Given the description of an element on the screen output the (x, y) to click on. 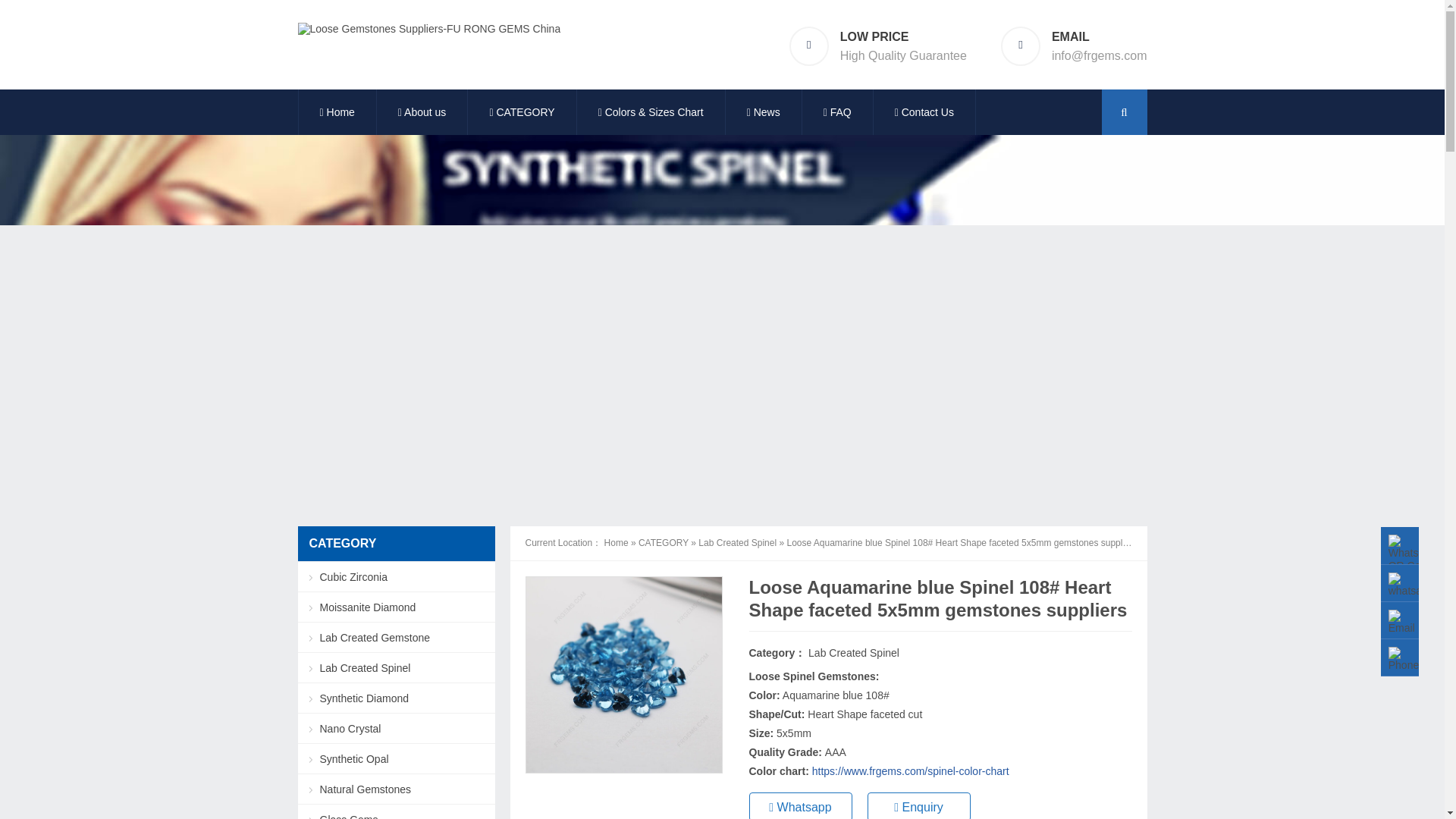
Home (336, 112)
Contact Us (924, 112)
Whatsapp QR Code (1412, 553)
About us (422, 112)
whatsapp (1410, 585)
CATEGORY (521, 112)
News (763, 112)
FAQ (837, 112)
